Given the description of an element on the screen output the (x, y) to click on. 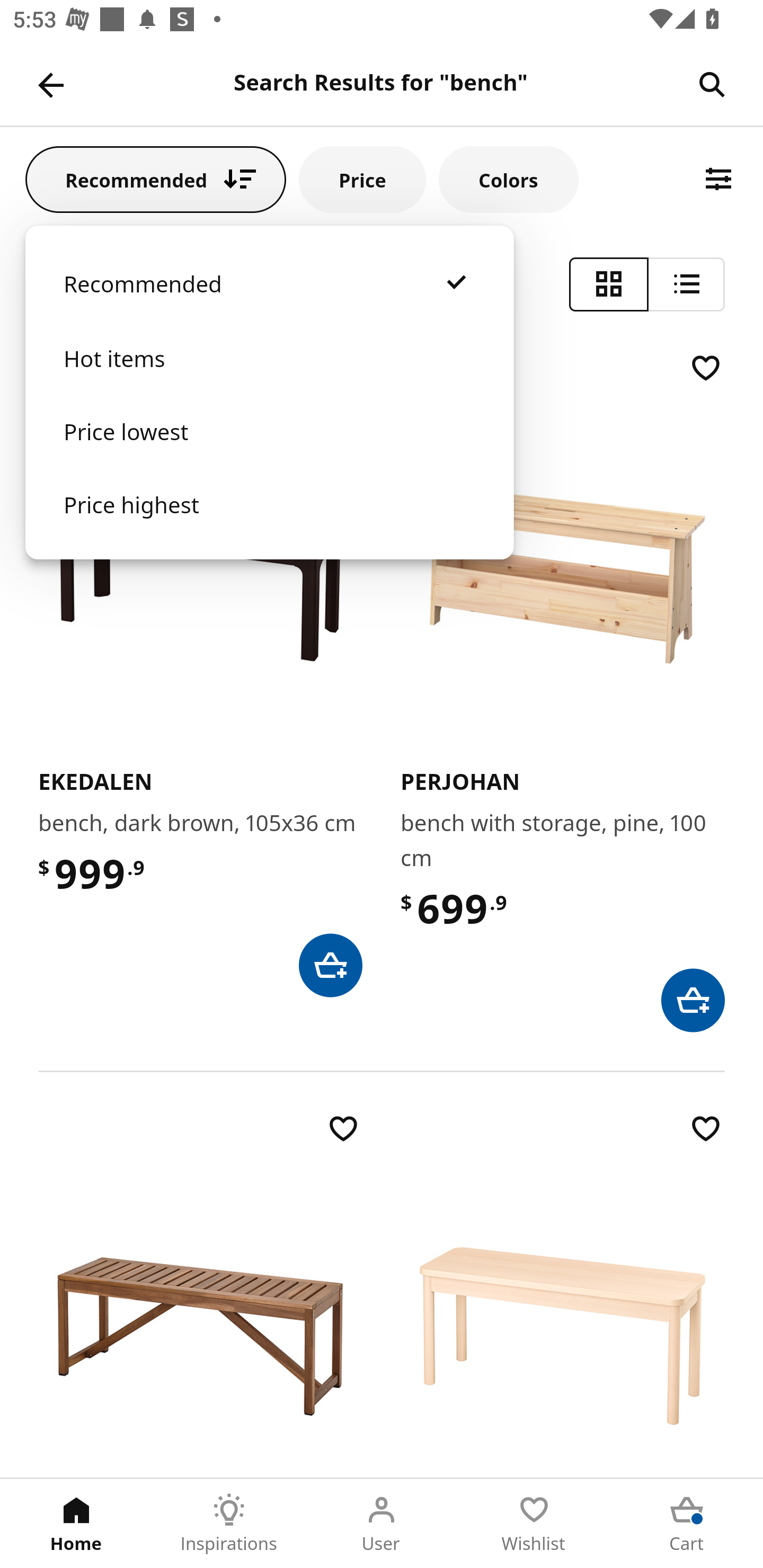
Recommended (155, 179)
Price (362, 179)
Colors (508, 179)
Recommended (269, 301)
Hot items (269, 376)
Price lowest (269, 449)
Price highest (269, 522)
​R​Ö​N​N​I​N​G​E​
bench, birch, 100 cm
$
999
.9 (562, 1293)
Home
Tab 1 of 5 (76, 1522)
Inspirations
Tab 2 of 5 (228, 1522)
User
Tab 3 of 5 (381, 1522)
Wishlist
Tab 4 of 5 (533, 1522)
Cart
Tab 5 of 5 (686, 1522)
